Given the description of an element on the screen output the (x, y) to click on. 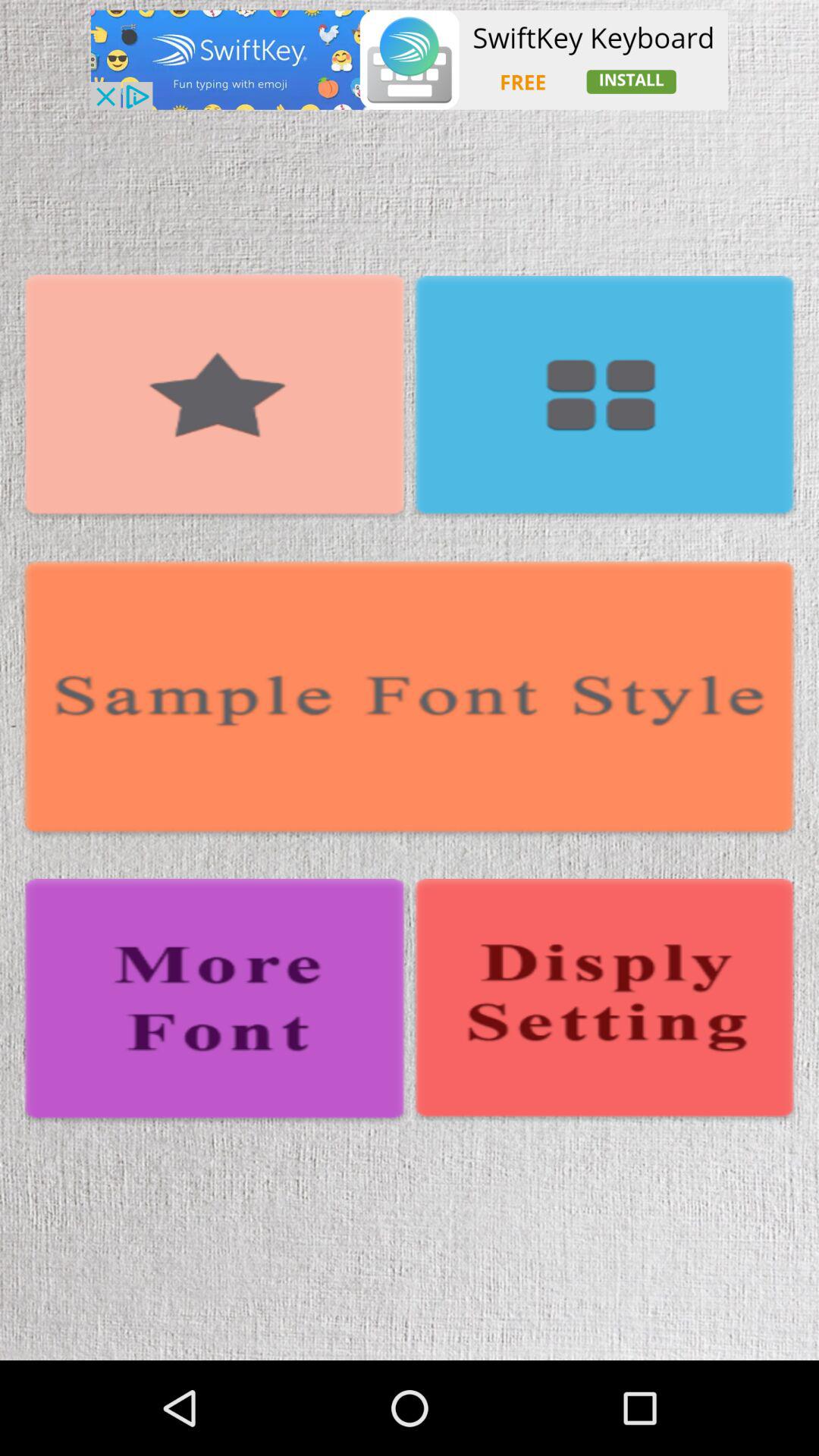
make the text highlighted (214, 397)
